Given the description of an element on the screen output the (x, y) to click on. 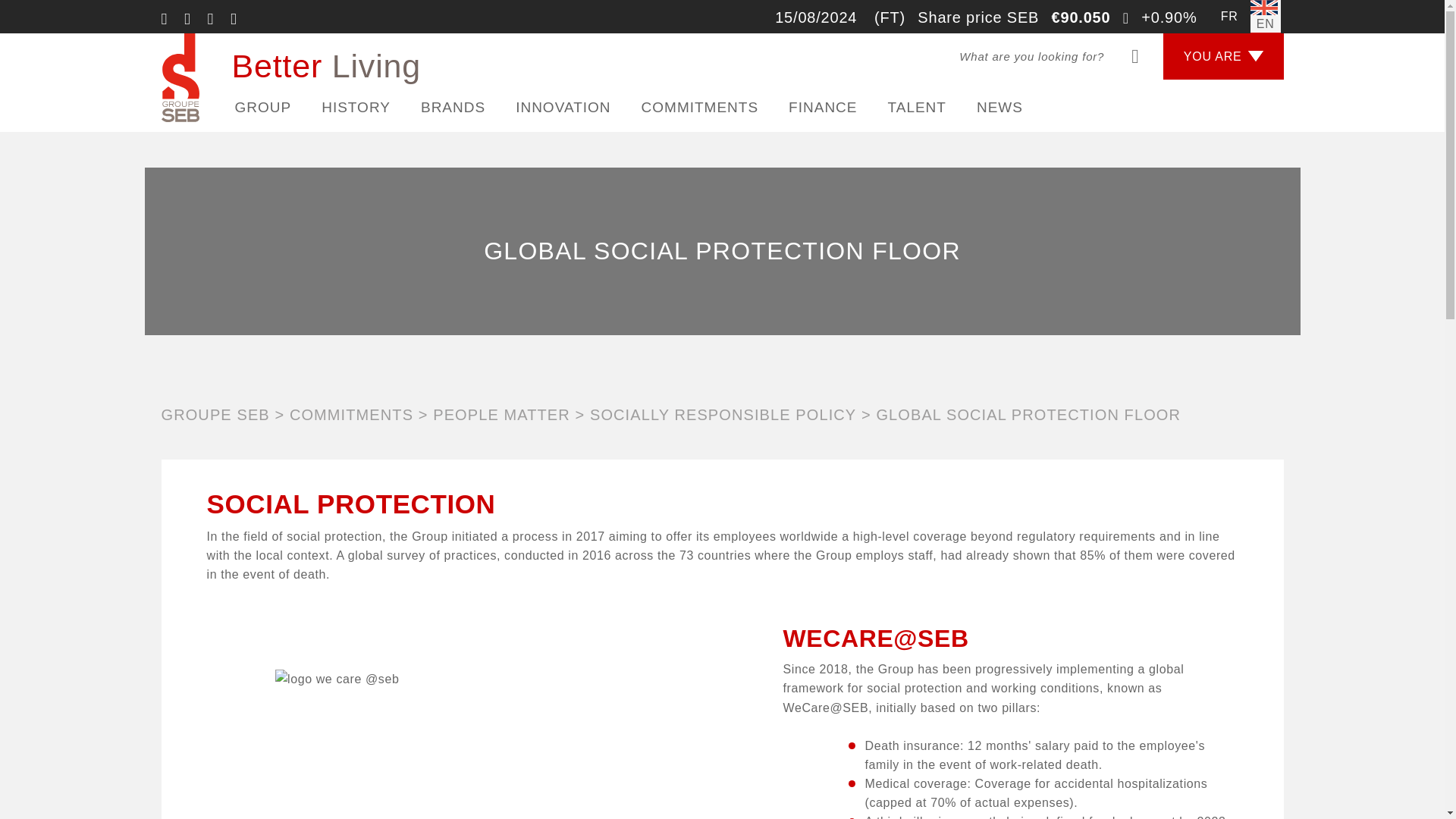
Home (290, 77)
FR (1229, 16)
HISTORY (355, 107)
EN (1265, 16)
Better Living (290, 77)
GROUP (263, 107)
BRANDS (452, 107)
